Given the description of an element on the screen output the (x, y) to click on. 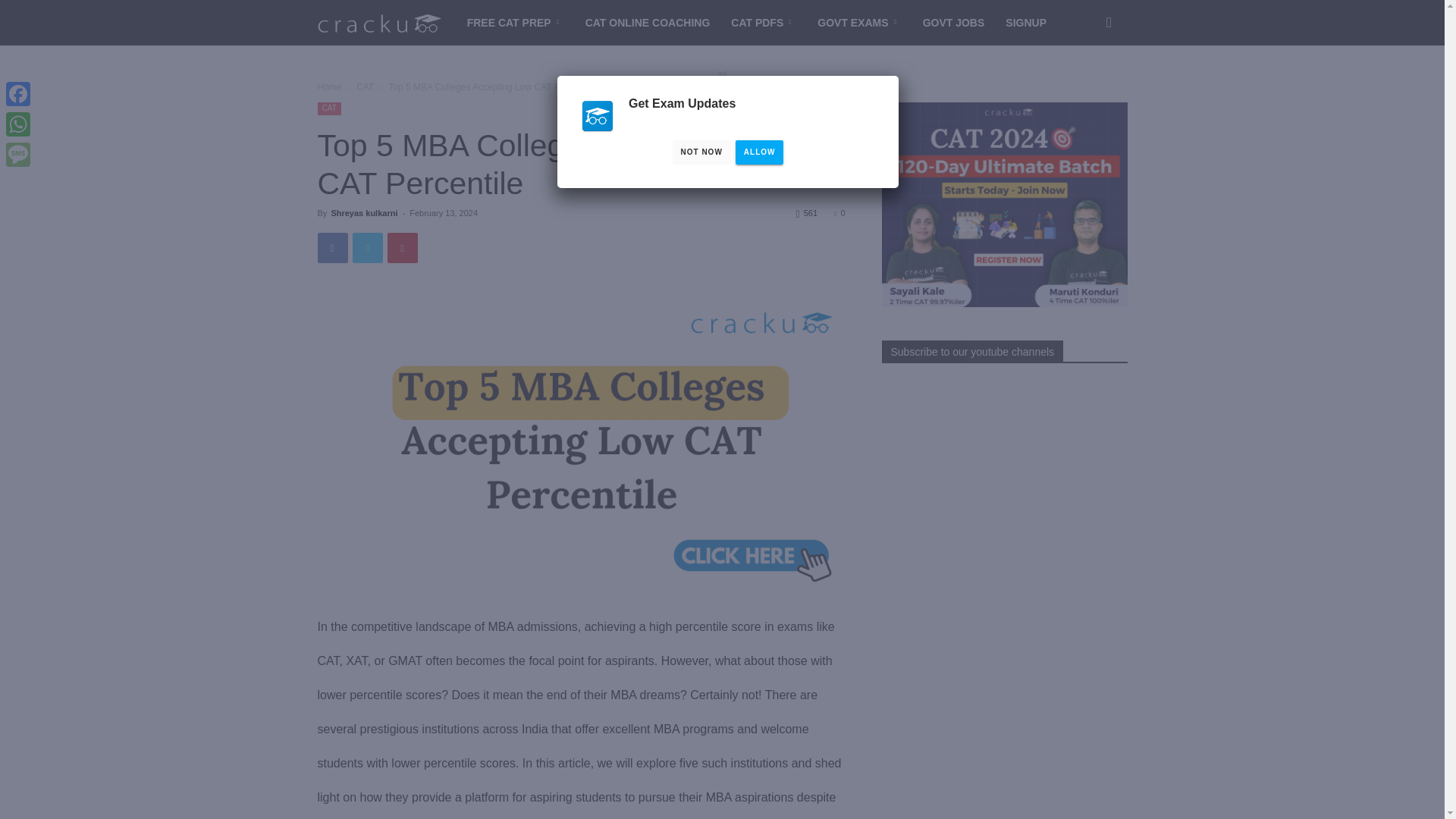
View all posts in CAT (365, 86)
Cracku - Exam prep for CAT, Banking, Railways, SSC (379, 22)
